Given the description of an element on the screen output the (x, y) to click on. 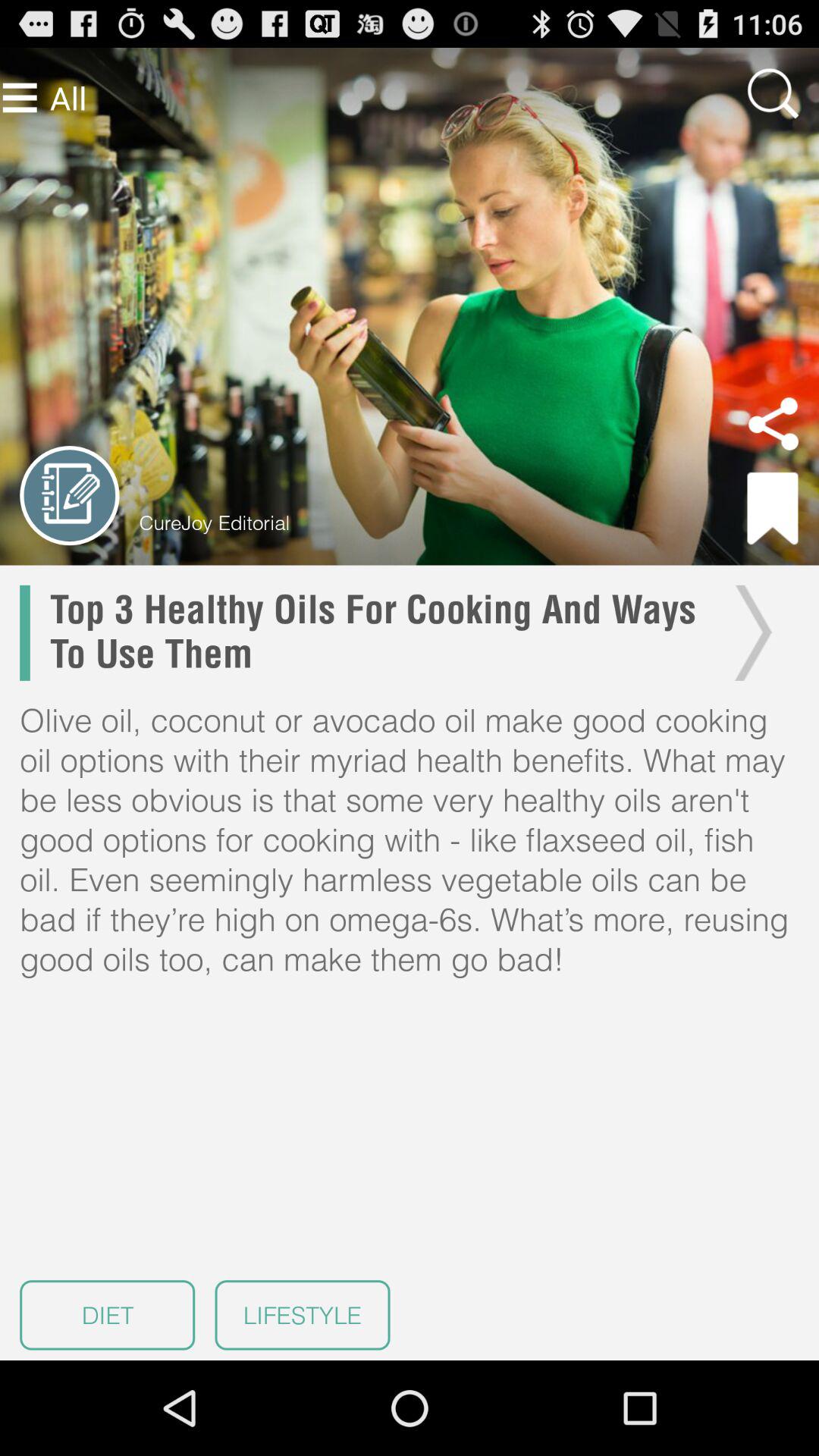
launch the item to the left of all icon (19, 97)
